Given the description of an element on the screen output the (x, y) to click on. 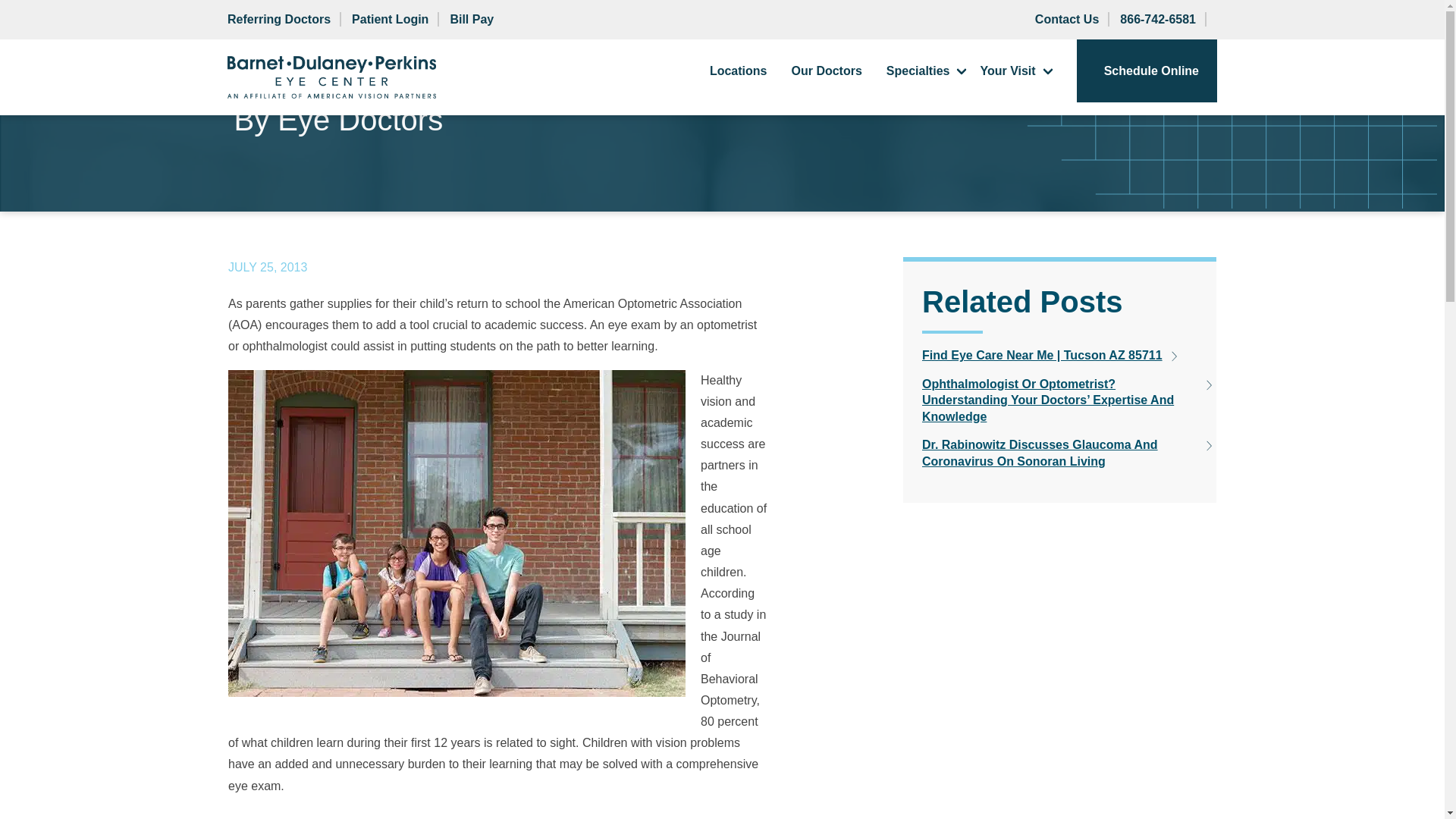
Patient Login (389, 19)
Bill Pay (471, 19)
Referring Doctors (278, 19)
Locations (737, 70)
866-742-6581 (1158, 19)
Contact Us (1067, 19)
Schedule Online (1147, 70)
Our Doctors (825, 70)
Specialties (918, 70)
Your Visit (1007, 70)
Barnet Dulaney Perkins Eye Center - Logo Link (331, 77)
